Given the description of an element on the screen output the (x, y) to click on. 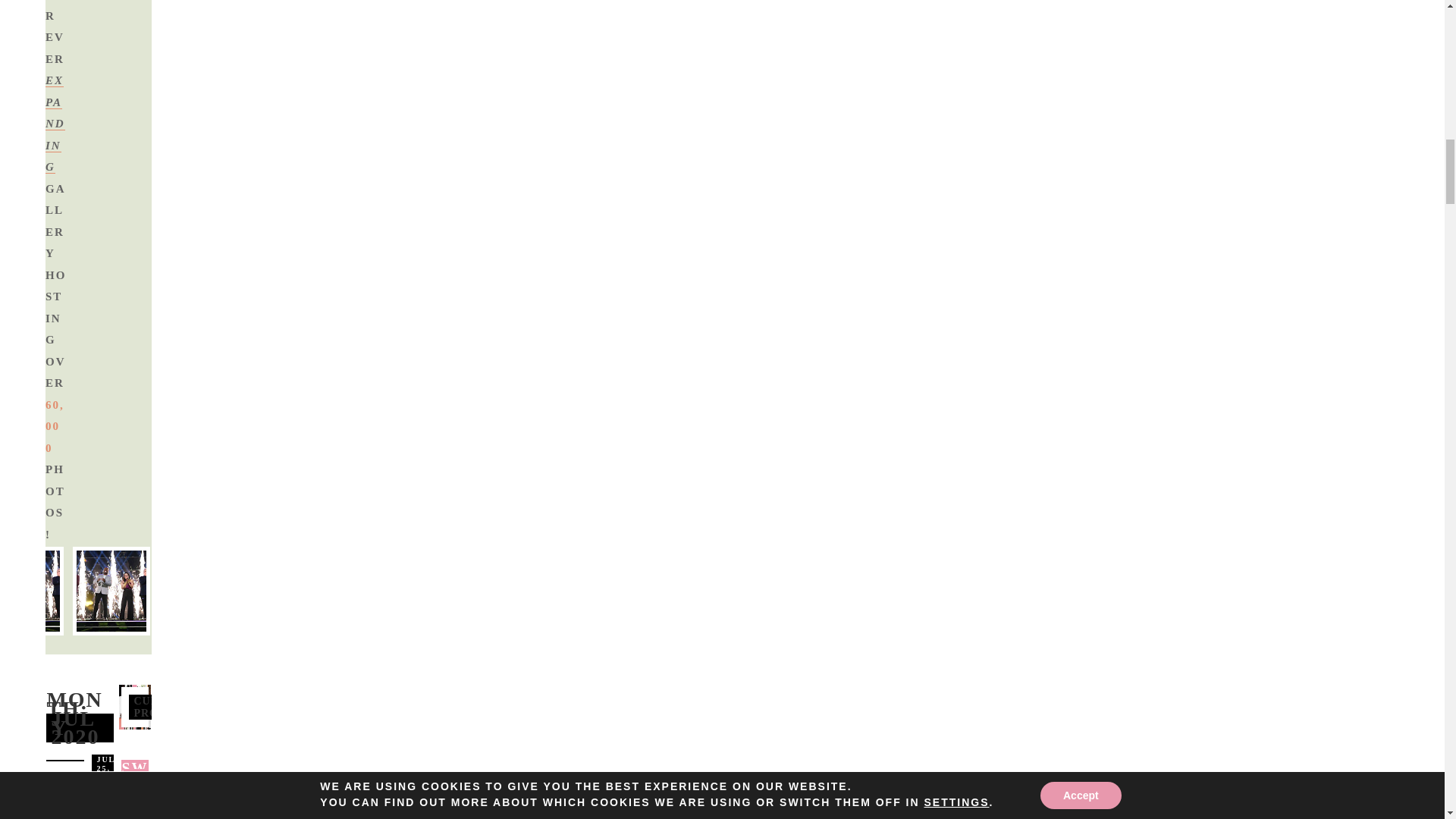
MATCHMAKER MYSTERIES: A FATAL ROMANCE (84, 808)
